Given the description of an element on the screen output the (x, y) to click on. 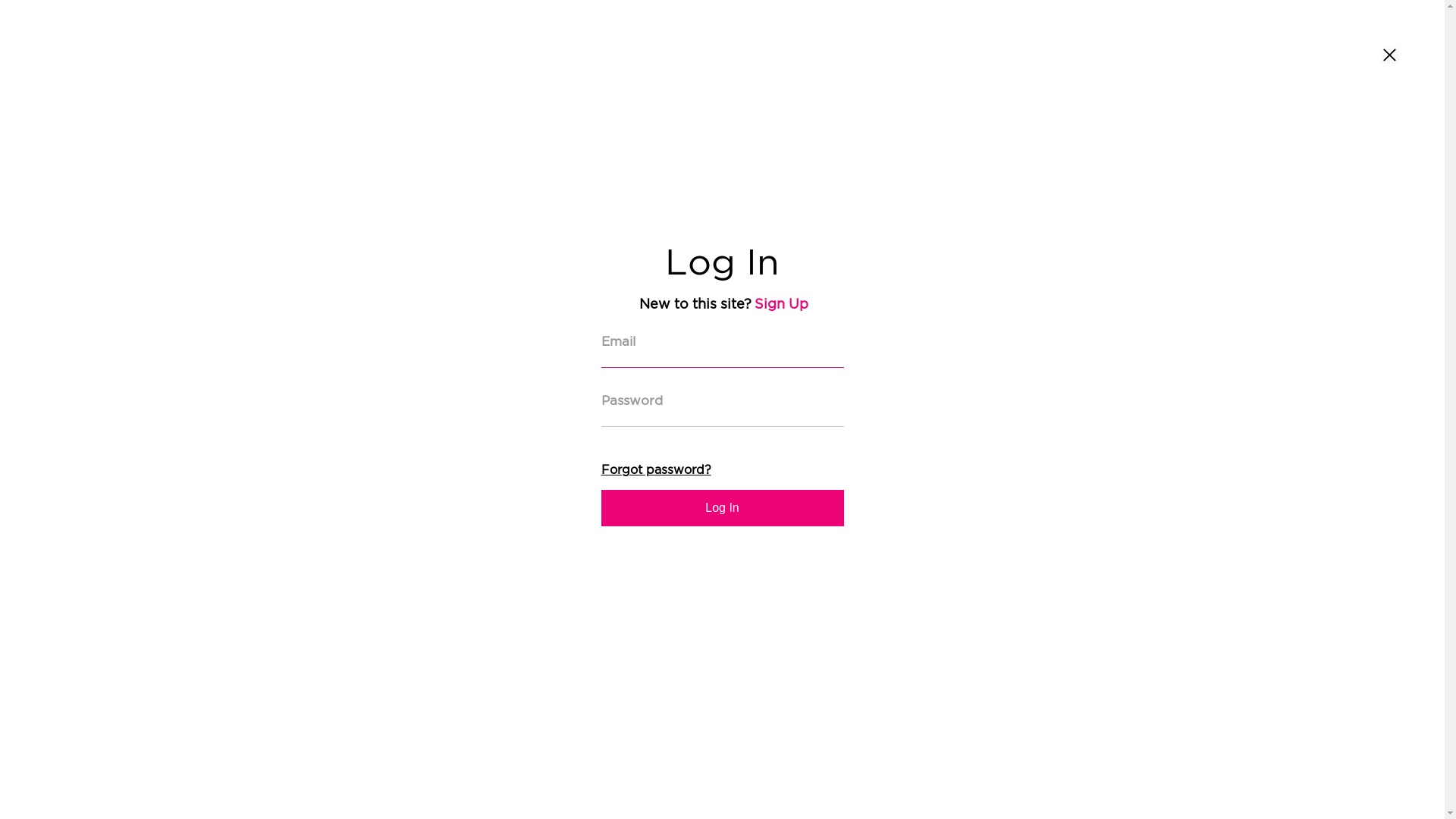
Forgot password? Element type: text (655, 469)
Sign Up Element type: text (781, 303)
Log In Element type: text (721, 507)
